Given the description of an element on the screen output the (x, y) to click on. 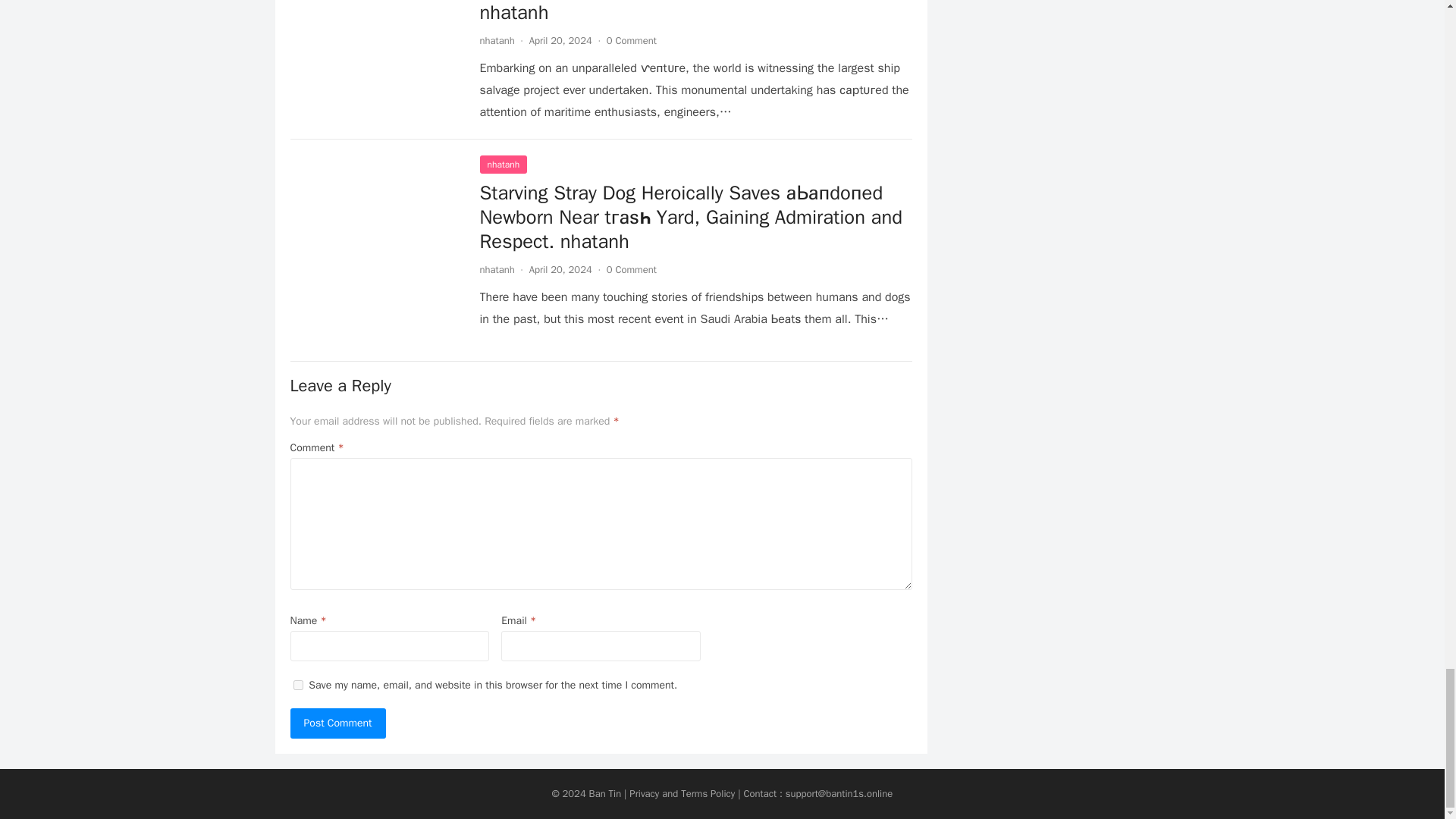
Posts by nhatanh (496, 269)
Post Comment (337, 723)
Posts by nhatanh (496, 40)
yes (297, 685)
